Given the description of an element on the screen output the (x, y) to click on. 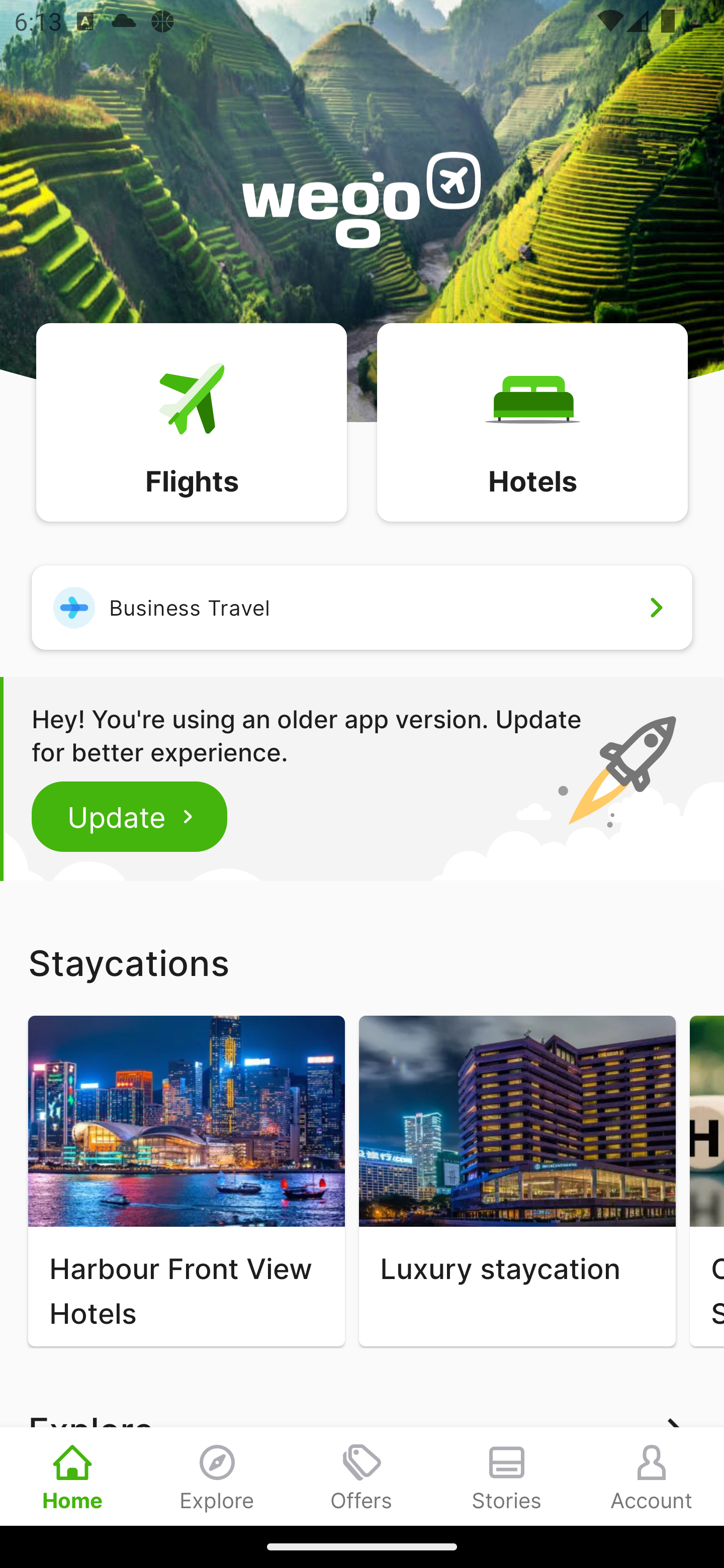
Flights (191, 420)
Hotels (532, 420)
Business Travel (361, 607)
Update (129, 815)
Staycations (362, 962)
Harbour Front View Hotels (186, 1181)
Luxury staycation (517, 1181)
Explore (216, 1475)
Offers (361, 1475)
Stories (506, 1475)
Account (651, 1475)
